Given the description of an element on the screen output the (x, y) to click on. 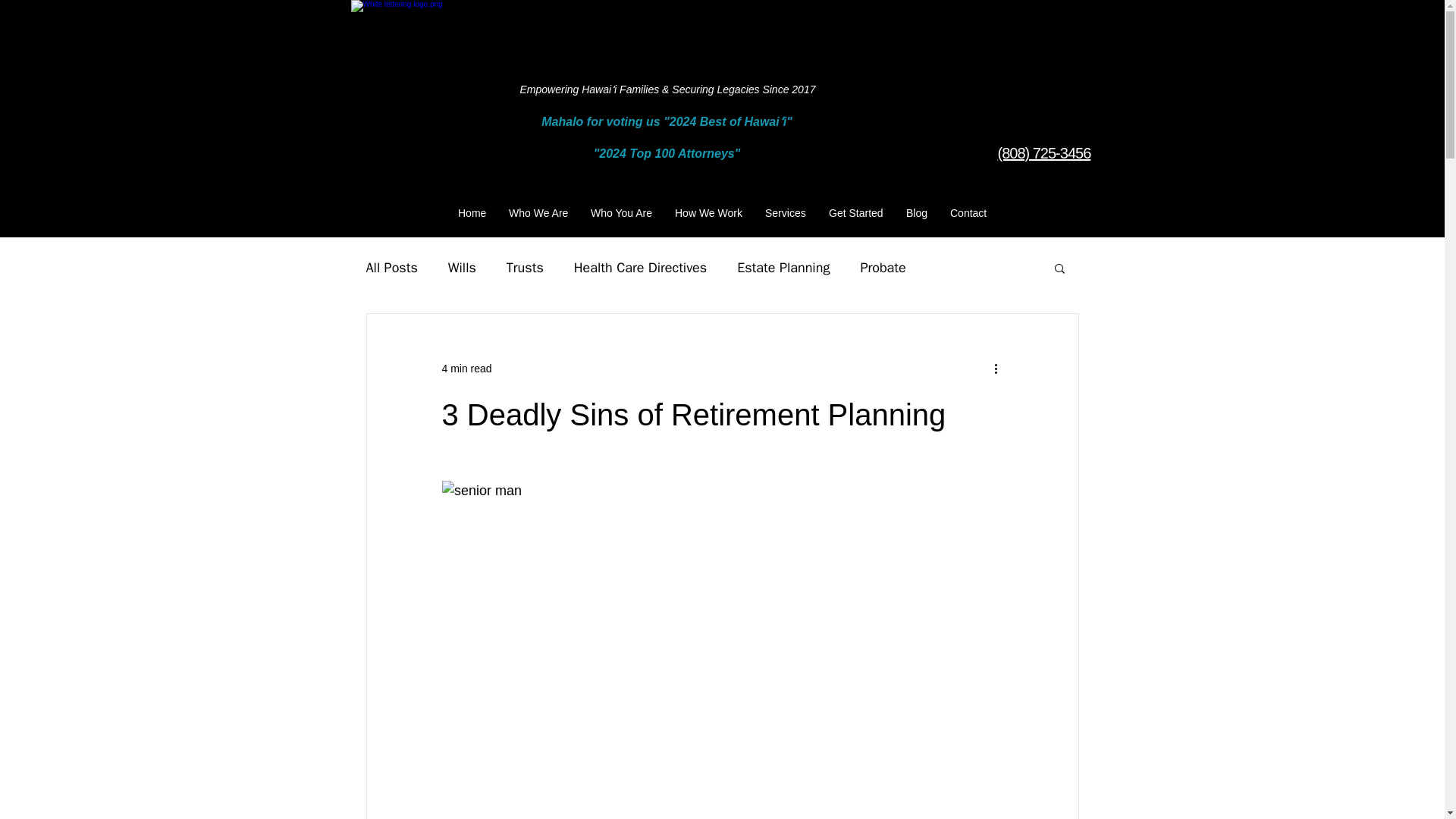
Probate (882, 267)
Health Care Directives (639, 267)
Blog (917, 212)
All Posts (390, 267)
Estate Planning (782, 267)
Home (471, 212)
Trusts (524, 267)
Contact (968, 212)
4 min read (466, 368)
Wills (462, 267)
